Given the description of an element on the screen output the (x, y) to click on. 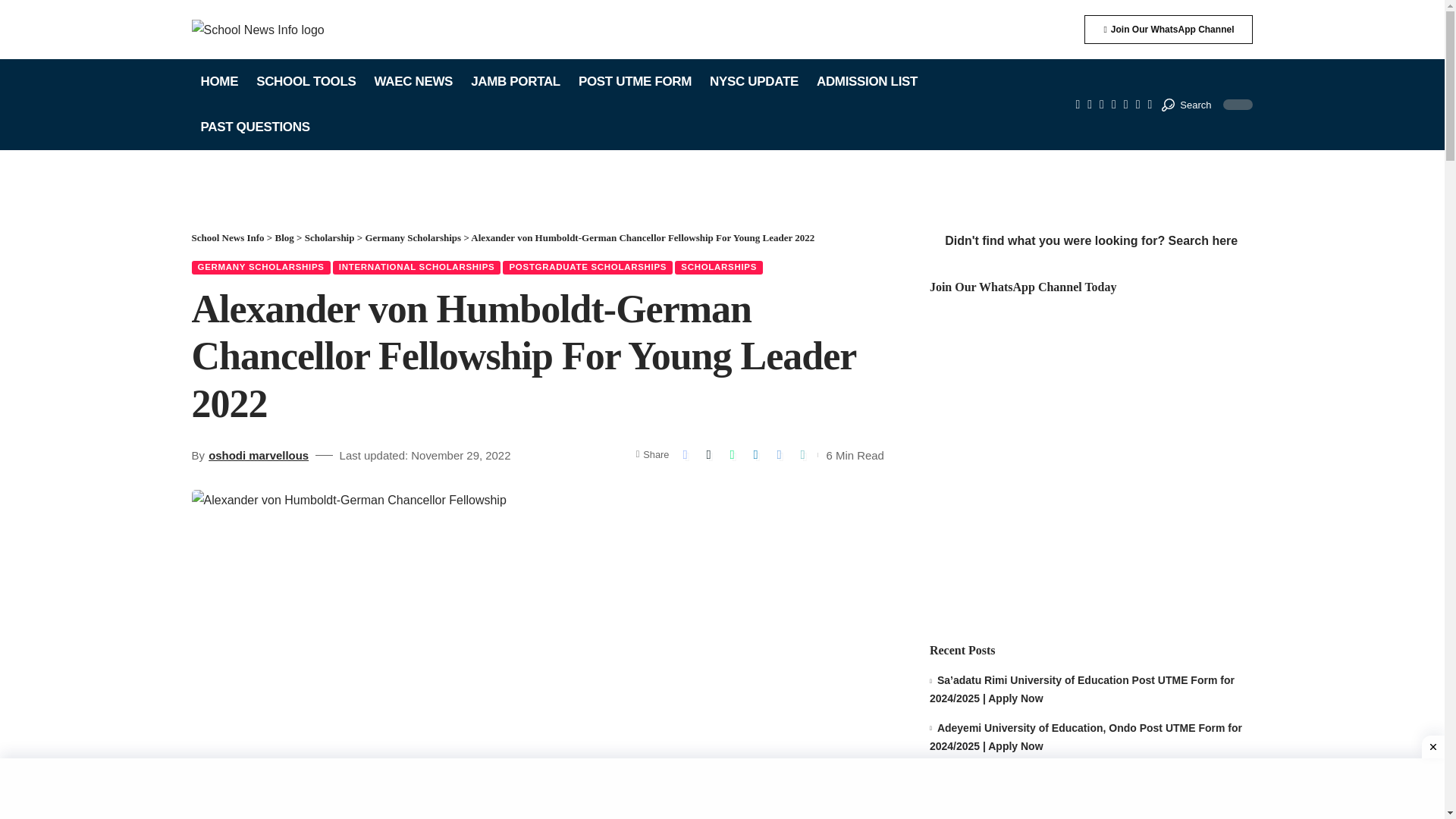
SCHOOL TOOLS (306, 81)
Go to the Scholarship Category archives. (329, 237)
Go to School News Info. (226, 237)
PAST QUESTIONS (254, 126)
Go to Blog. (284, 237)
WAEC NEWS (413, 81)
Search (1186, 104)
NYSC UPDATE (754, 81)
JAMB PORTAL (515, 81)
Go to the Germany Scholarships Category archives. (413, 237)
Join Our WhatsApp Channel (1168, 29)
POST UTME FORM (634, 81)
ADMISSION LIST (867, 81)
HOME (218, 81)
